Given the description of an element on the screen output the (x, y) to click on. 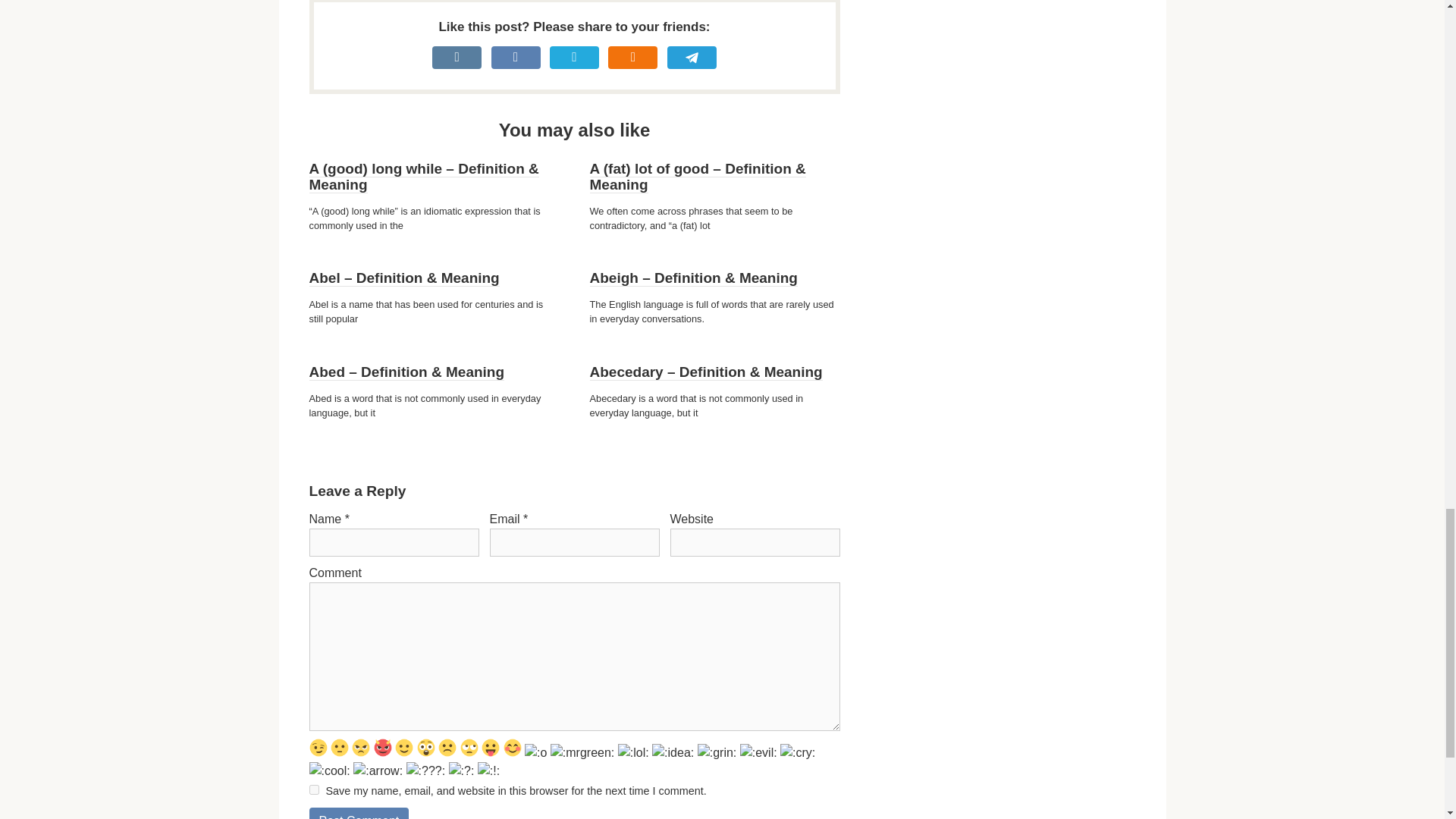
Post Comment (358, 813)
yes (313, 789)
Post Comment (358, 813)
